Given the description of an element on the screen output the (x, y) to click on. 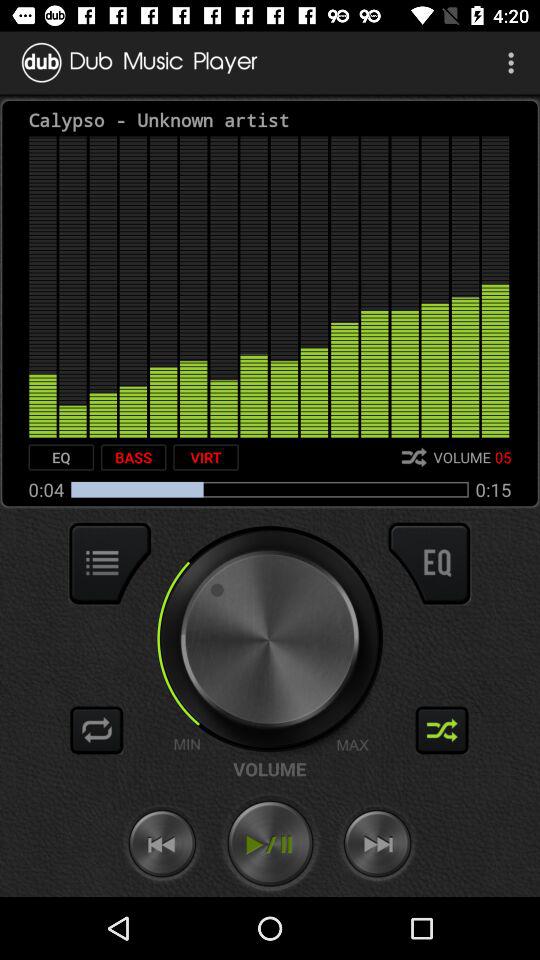
open further options menu (110, 563)
